Given the description of an element on the screen output the (x, y) to click on. 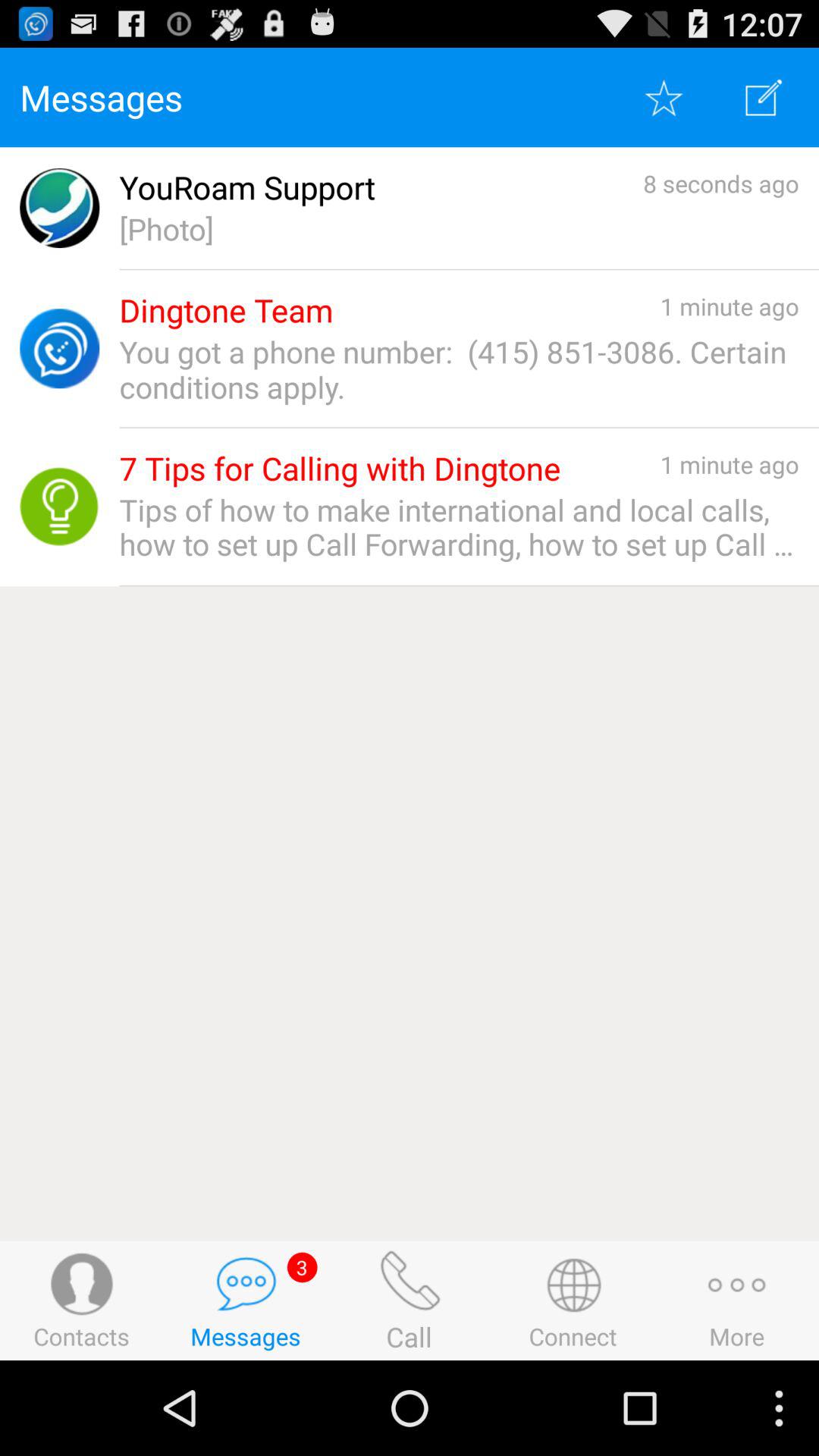
jump to the you got a icon (459, 369)
